Given the description of an element on the screen output the (x, y) to click on. 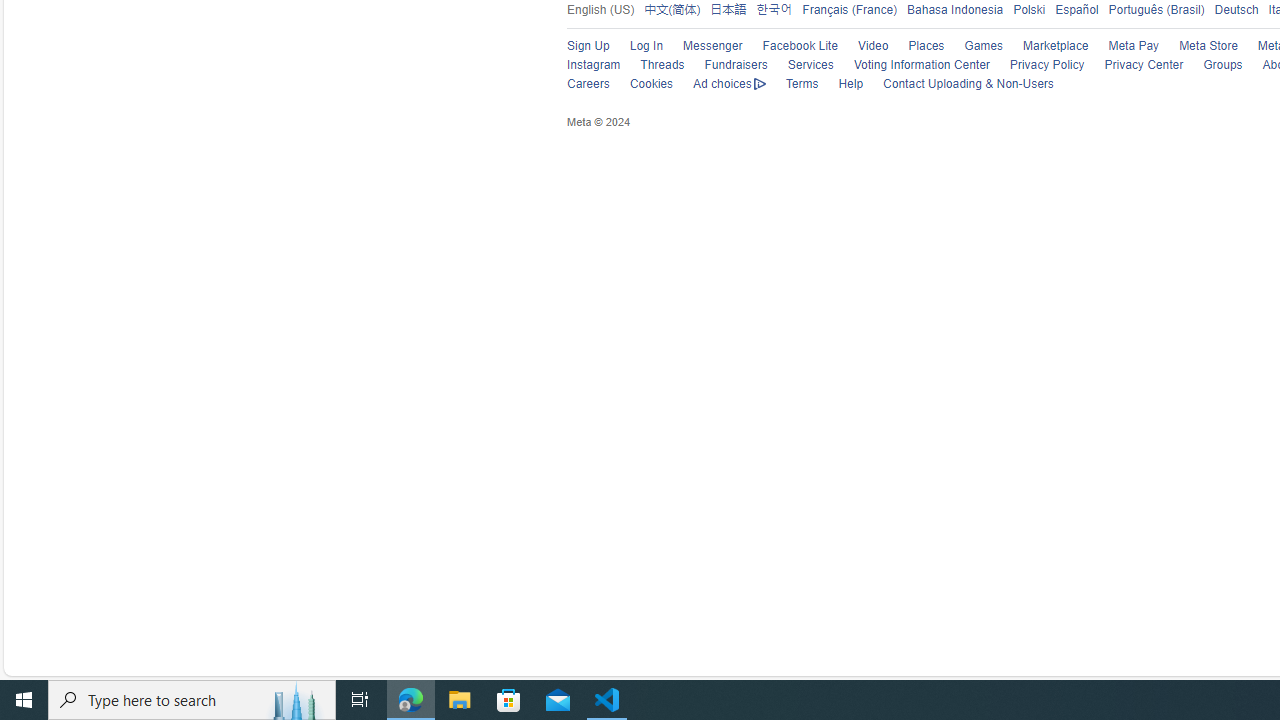
Voting Information Center (920, 65)
Meta Store (1207, 45)
Threads (662, 65)
Facebook Lite (799, 45)
Privacy Policy (1037, 66)
Help (851, 84)
Contact Uploading & Non-Users (957, 84)
Ad choices (728, 84)
Fundraisers (725, 66)
Careers (578, 84)
Help (840, 84)
Log In (636, 46)
Bahasa Indonesia (955, 9)
